Given the description of an element on the screen output the (x, y) to click on. 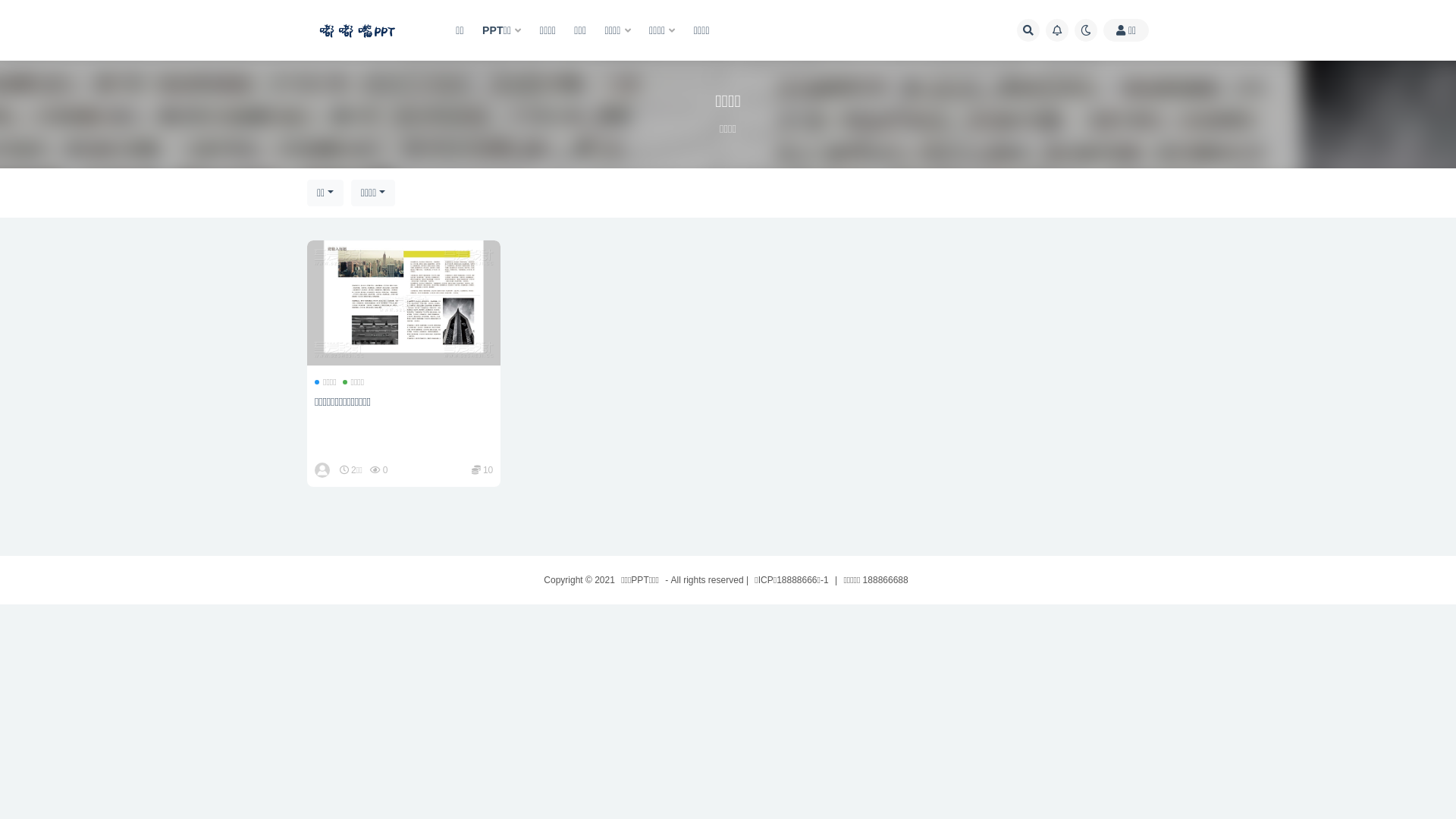
dudz Element type: hover (323, 469)
